Given the description of an element on the screen output the (x, y) to click on. 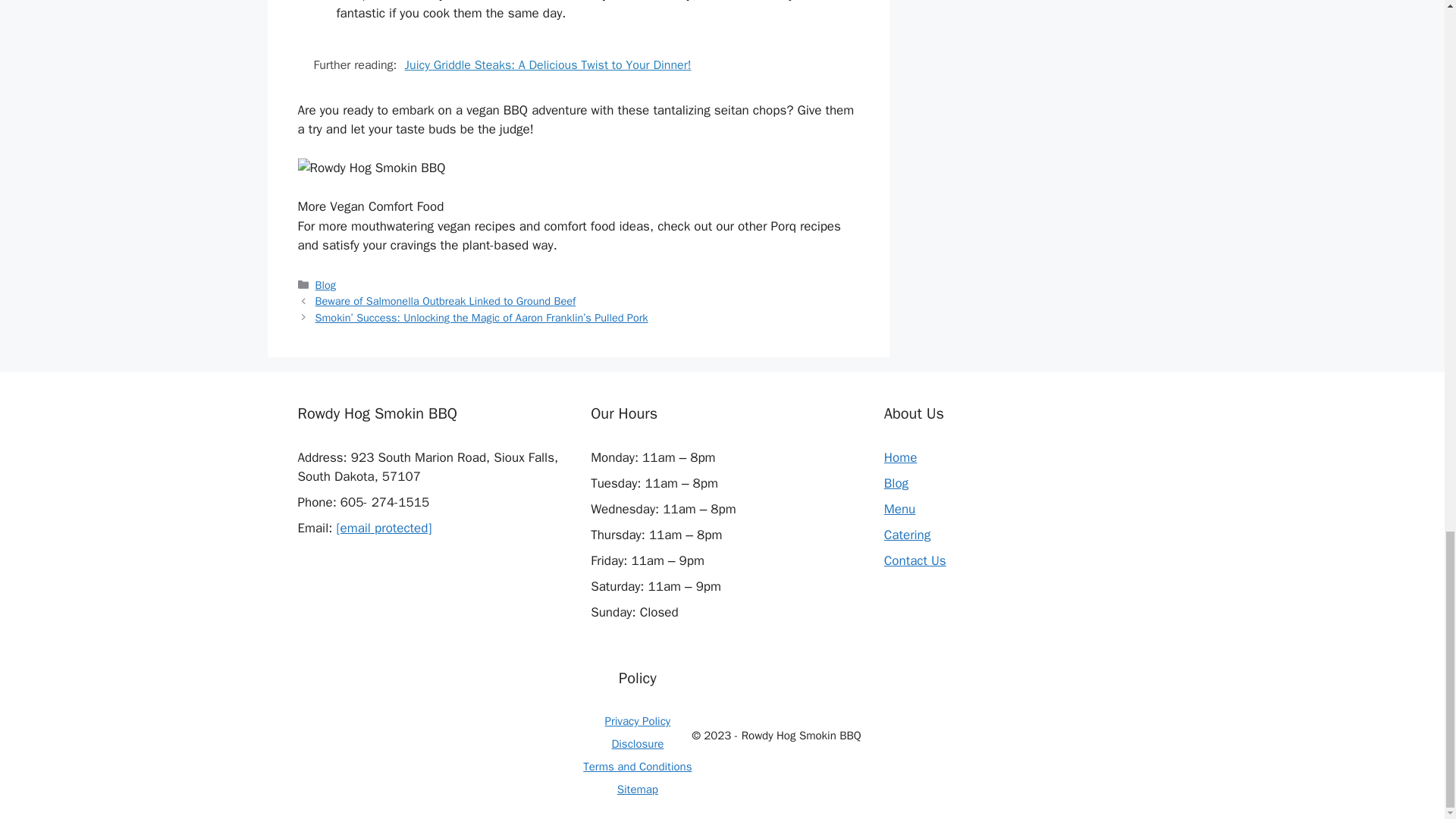
Beware of Salmonella Outbreak Linked to Ground Beef (445, 300)
Blog (895, 483)
Terms and Conditions (637, 766)
Disclosure (637, 744)
Catering (906, 534)
Privacy Policy (638, 721)
Blog (325, 284)
Menu (899, 508)
Contact Us (914, 560)
Home (900, 457)
Sitemap (637, 789)
